Given the description of an element on the screen output the (x, y) to click on. 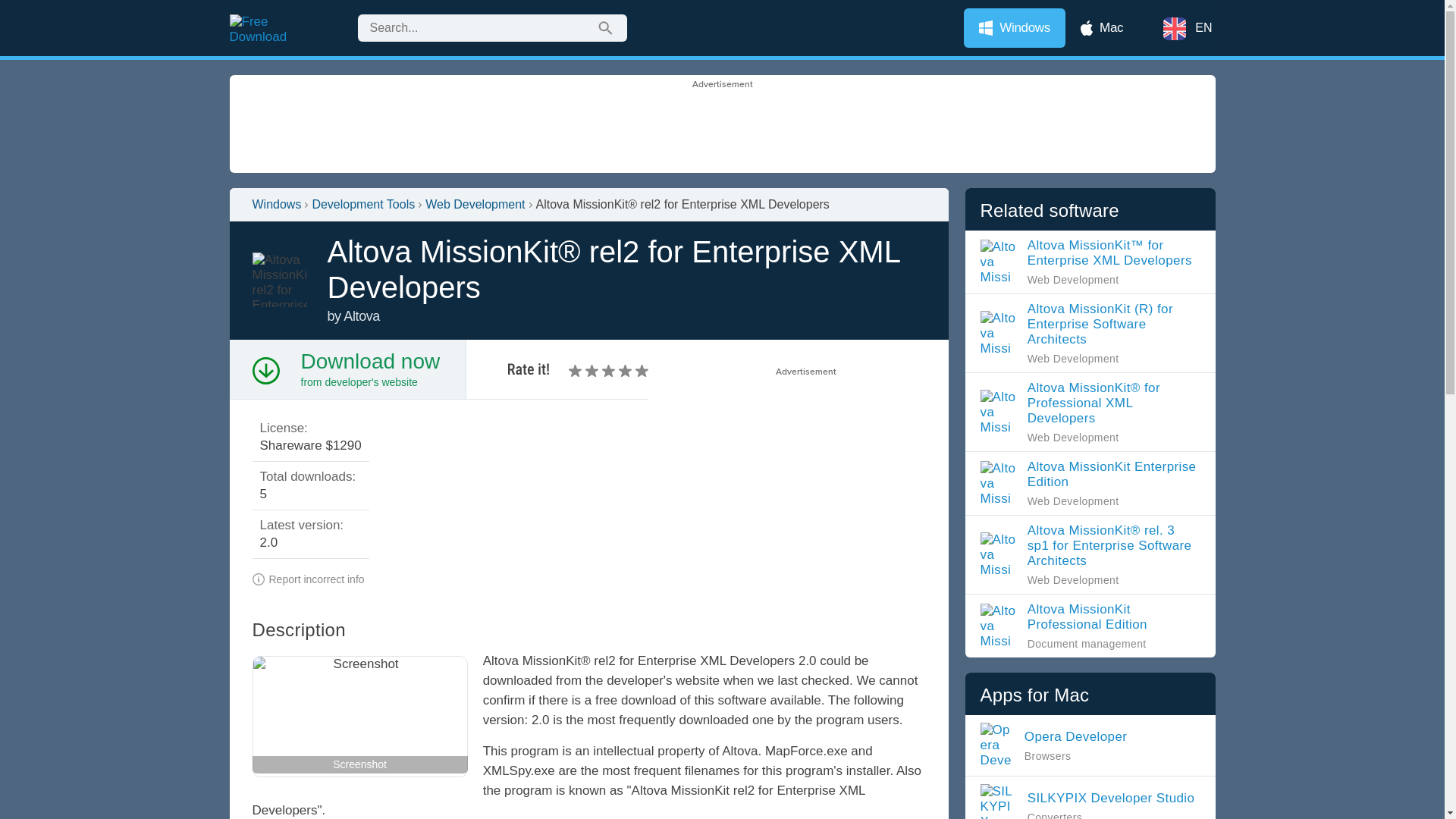
Altova MissionKit Professional Edition (1089, 625)
1 (576, 369)
SILKYPIX Developer Studio (1089, 801)
4 (601, 369)
Download now (369, 361)
Windows (1014, 27)
Opera Developer (1058, 745)
5 (1089, 482)
Mac (608, 369)
Altova MissionKit Enterprise Edition (1101, 27)
Web Development (1089, 482)
